Given the description of an element on the screen output the (x, y) to click on. 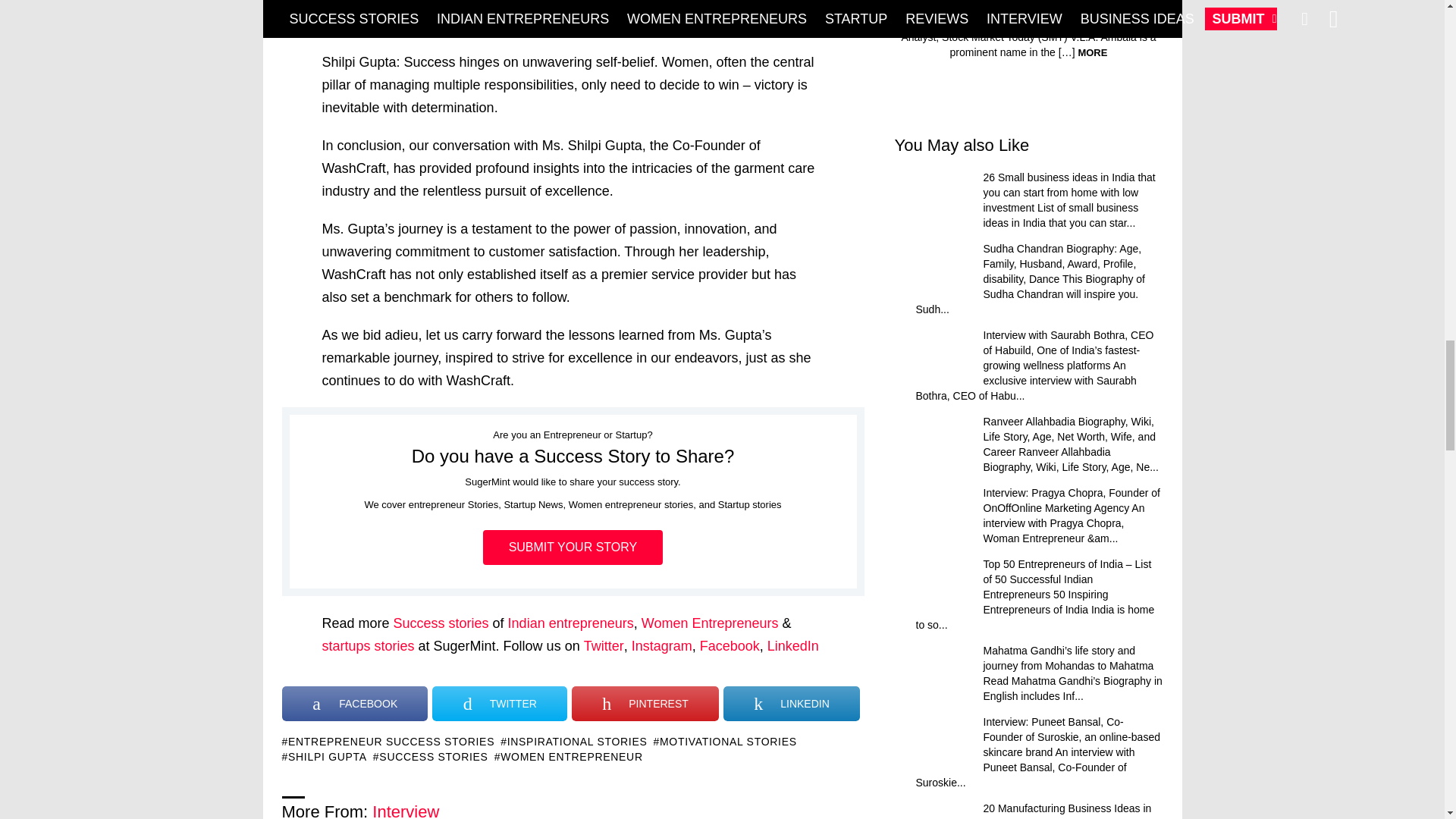
Women Entrepreneurs (712, 622)
Success stories (441, 622)
SUBMIT YOUR STORY (573, 547)
Indian entrepreneurs (570, 622)
Facebook (730, 645)
Twitter (603, 645)
startups stories (367, 645)
Instagram (662, 645)
